Given the description of an element on the screen output the (x, y) to click on. 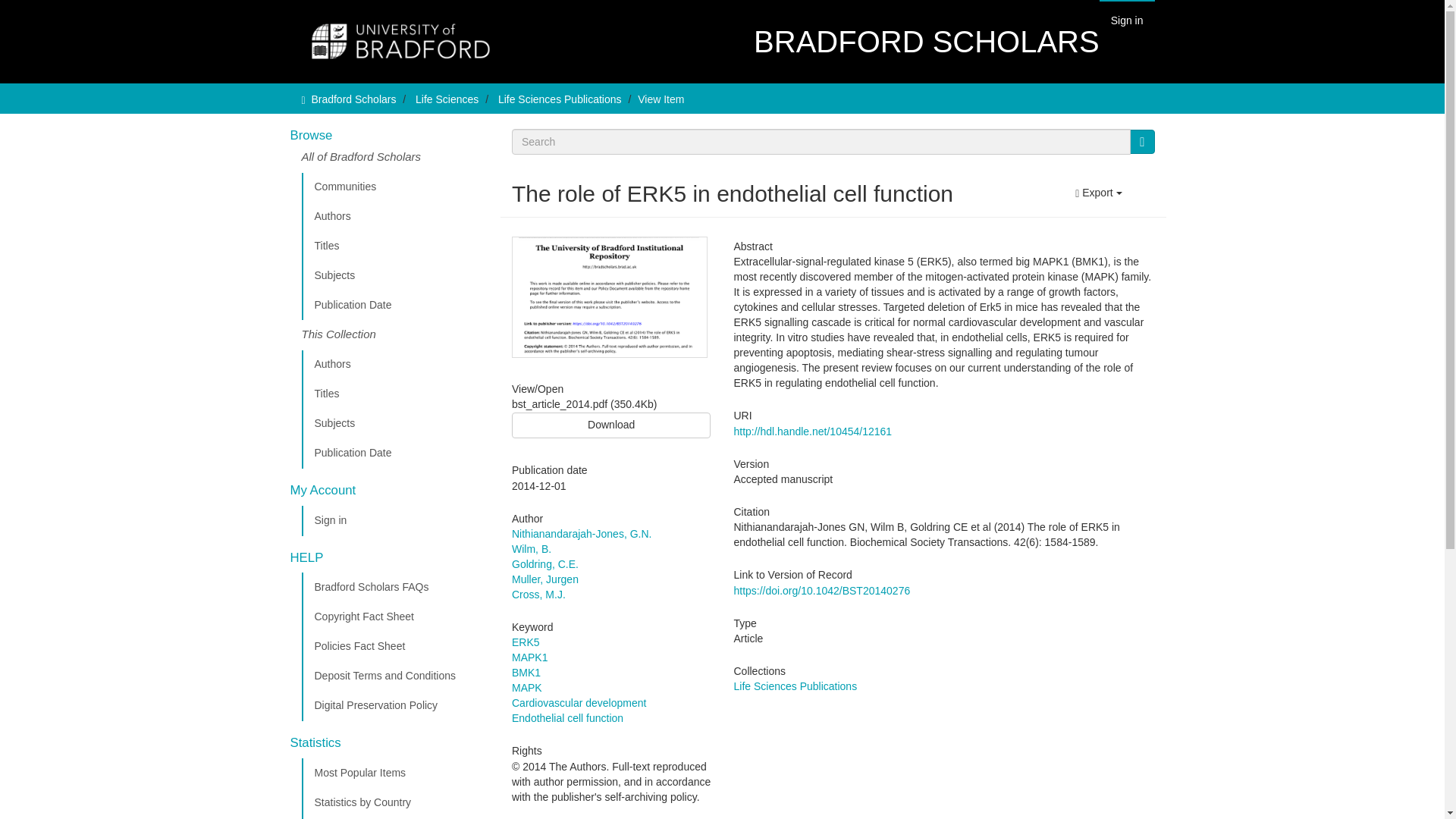
Sign in (395, 521)
This Collection (395, 335)
Communities (395, 186)
Subjects (395, 423)
Titles (395, 245)
All of Bradford Scholars (395, 160)
Authors (395, 364)
Authors (395, 216)
Bradford Scholars FAQs (395, 587)
Go (1141, 141)
